Given the description of an element on the screen output the (x, y) to click on. 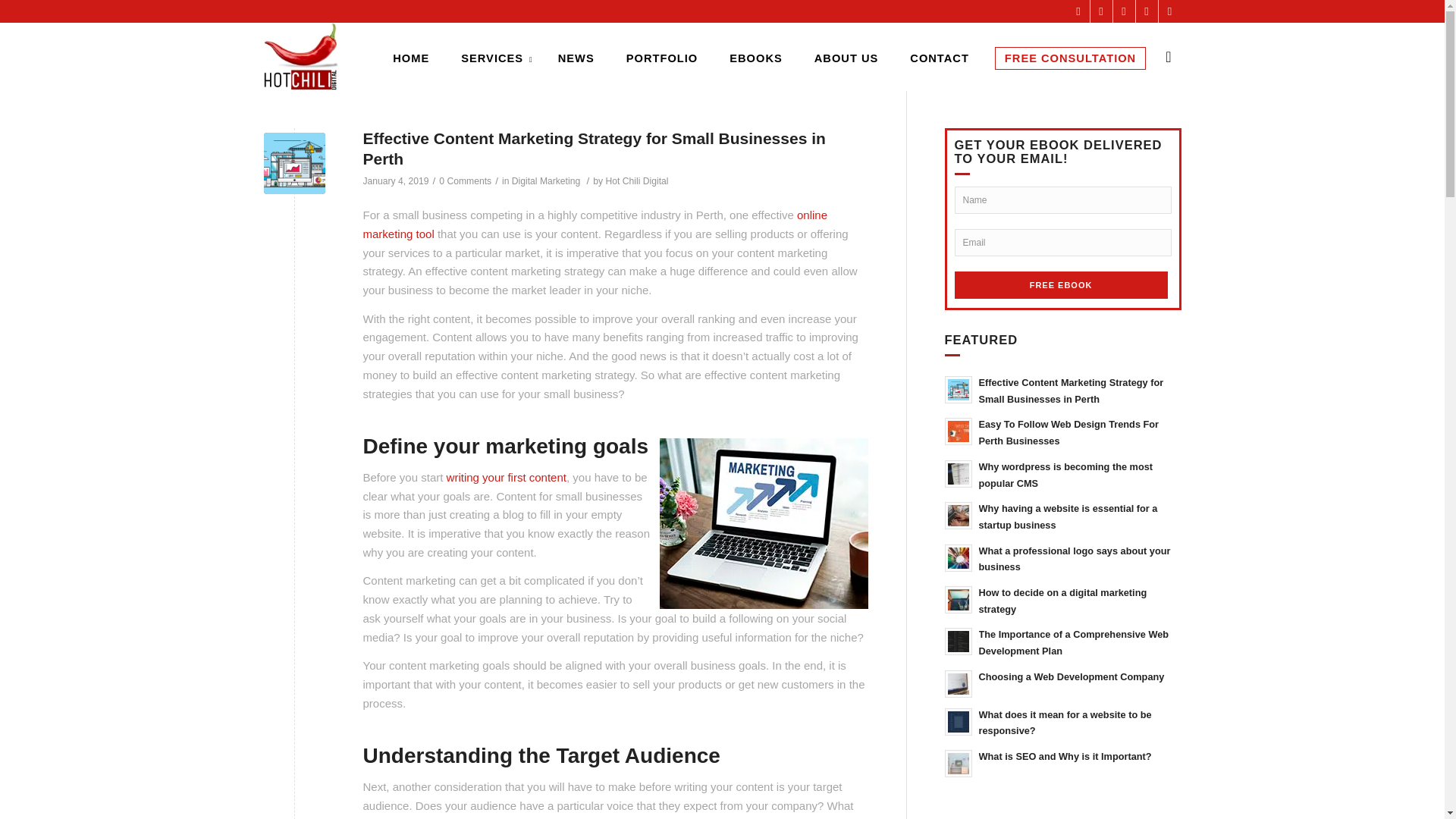
SERVICES (493, 56)
FREE EBOOK (1060, 284)
Why wordpress is becoming the most popular CMS (1062, 474)
Easy To Follow Web Design Trends For Perth Businesses (1062, 431)
online marketing tool (594, 224)
What a professional logo says about your business (1062, 558)
Digital Marketing (545, 181)
